Given the description of an element on the screen output the (x, y) to click on. 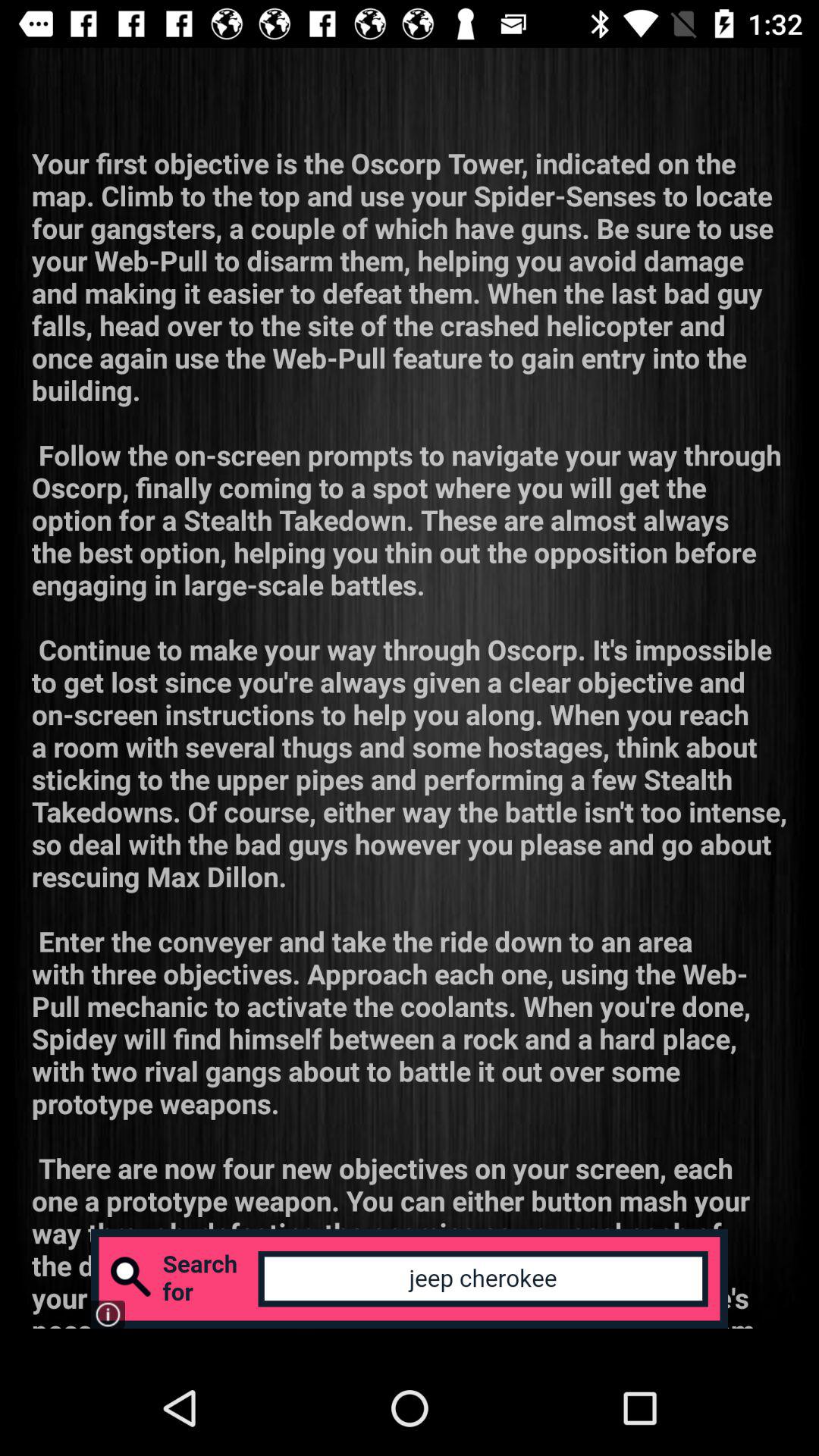
search (409, 1278)
